Given the description of an element on the screen output the (x, y) to click on. 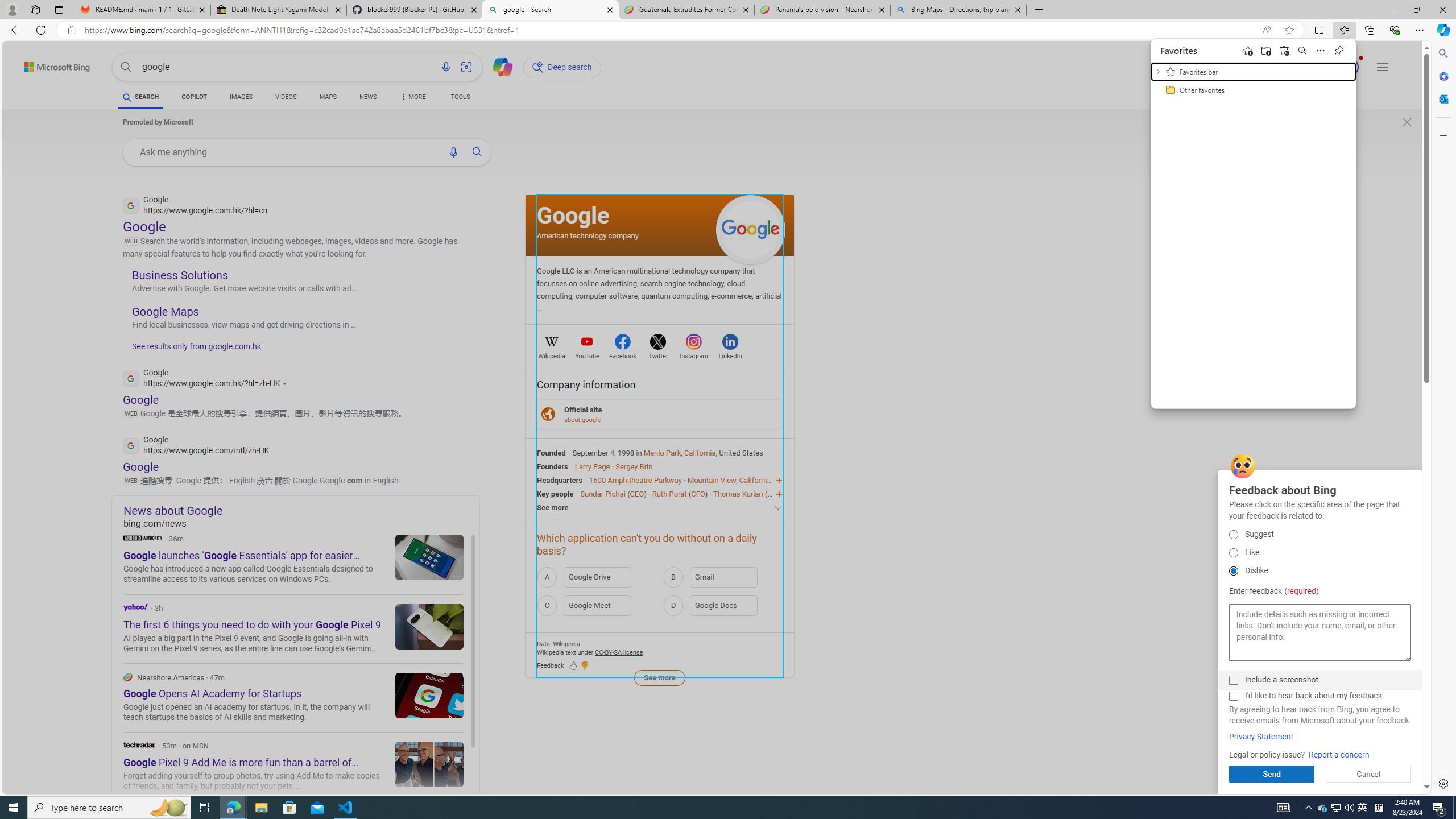
Search highlights icon opens search home window (167, 807)
Tray Input Indicator - Chinese (Simplified, China) (1322, 807)
Type here to search (1378, 807)
Task View (108, 807)
